Given the description of an element on the screen output the (x, y) to click on. 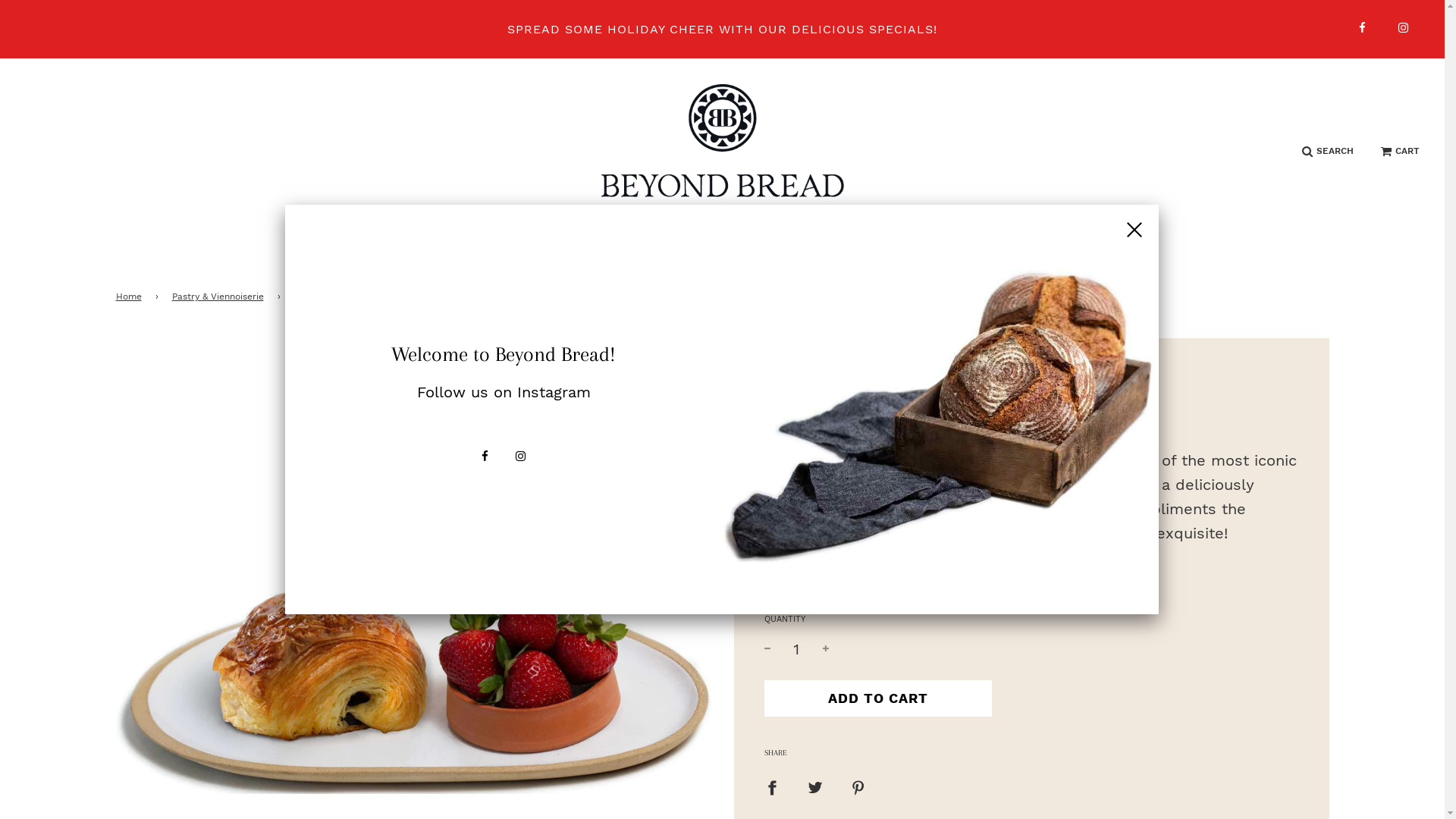
HOME Element type: text (339, 252)
Beyond Bread Element type: text (803, 377)
GROCERY & MERCH Element type: text (802, 252)
CONTACT US Element type: text (1080, 252)
CART Element type: text (1400, 151)
SPREAD SOME HOLIDAY CHEER WITH OUR DELICIOUS SPECIALS! Element type: text (721, 29)
SEARCH Element type: text (1327, 151)
OUR APPROACH Element type: text (952, 252)
ORDER PICK UP Element type: text (455, 252)
COFFEE & BREW GEAR Element type: text (629, 252)
LOADING...
ADD TO CART Element type: text (877, 698)
Home Element type: text (130, 296)
Pastry & Viennoiserie Element type: text (219, 296)
